Given the description of an element on the screen output the (x, y) to click on. 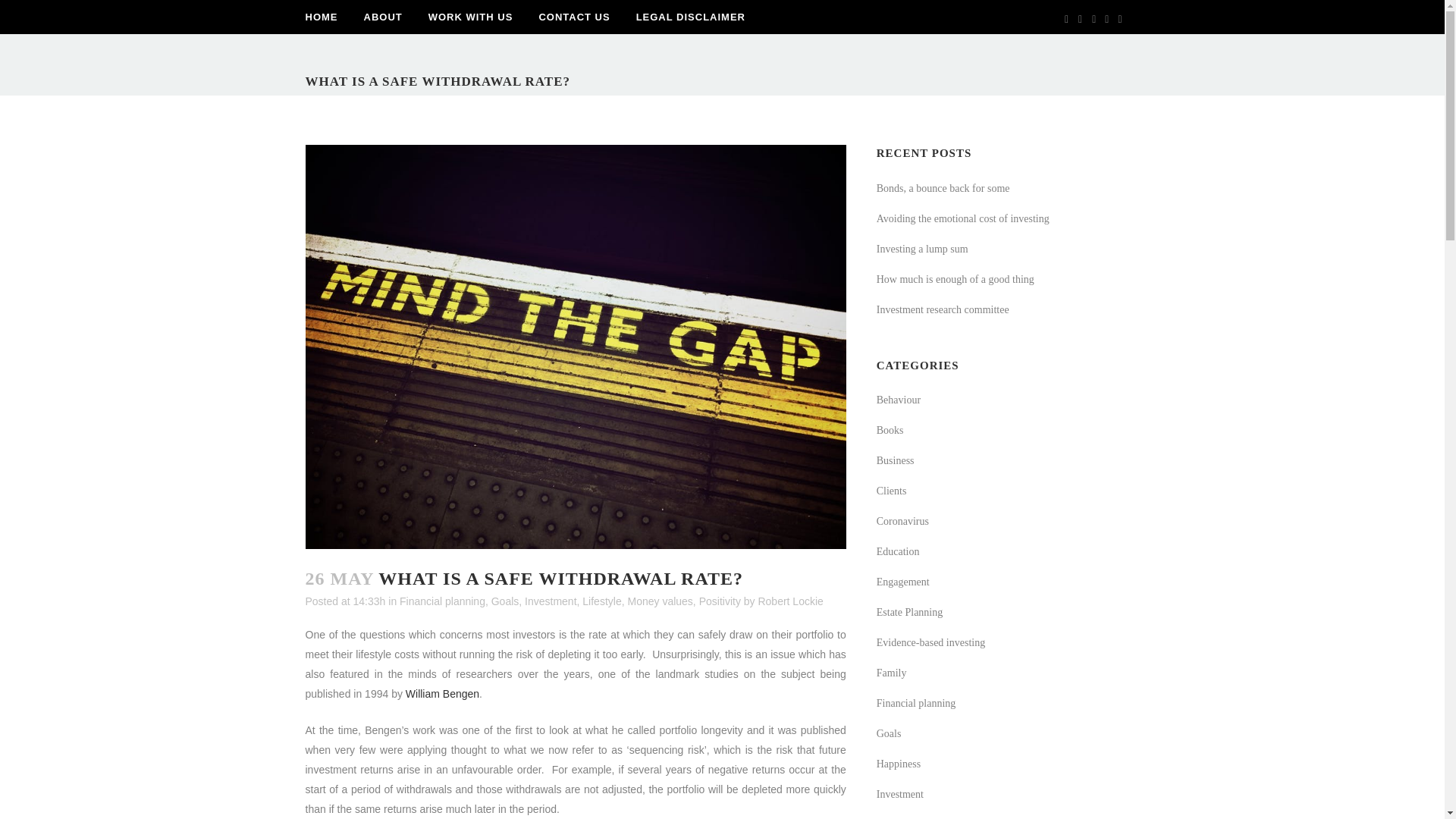
Bonds, a bounce back for some (943, 188)
Investment research committee (942, 309)
Lifestyle (601, 601)
LEGAL DISCLAIMER (690, 17)
ABOUT (382, 17)
Positivity (719, 601)
WORK WITH US (469, 17)
Behaviour (898, 399)
Avoiding the emotional cost of investing (962, 218)
CONTACT US (574, 17)
